Given the description of an element on the screen output the (x, y) to click on. 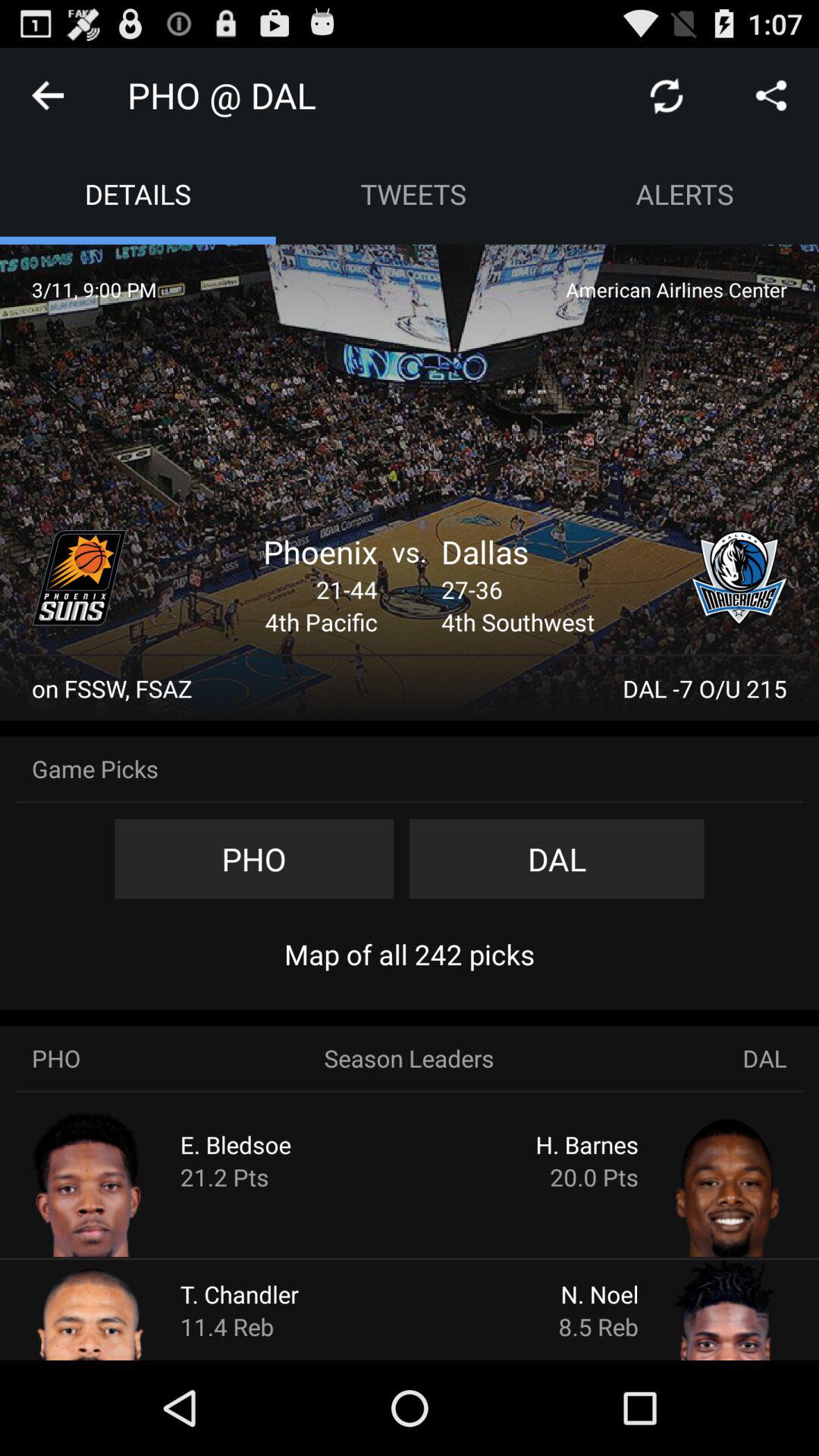
view player (119, 1183)
